Given the description of an element on the screen output the (x, y) to click on. 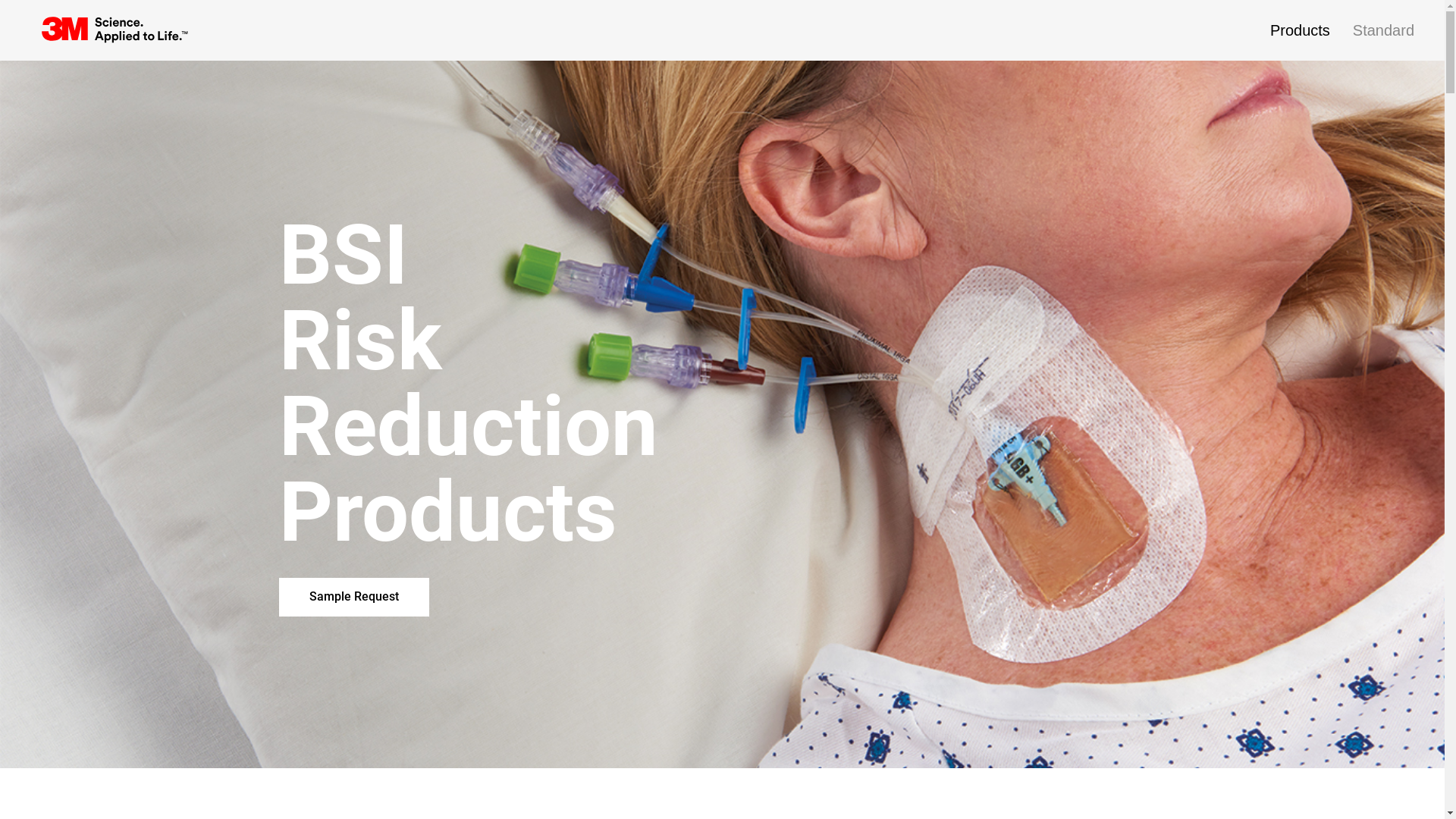
3M BSI Risk Reduction Products Element type: hover (117, 30)
Products Element type: text (1311, 30)
Standard Element type: text (1383, 30)
Sample Request Element type: text (354, 596)
